Given the description of an element on the screen output the (x, y) to click on. 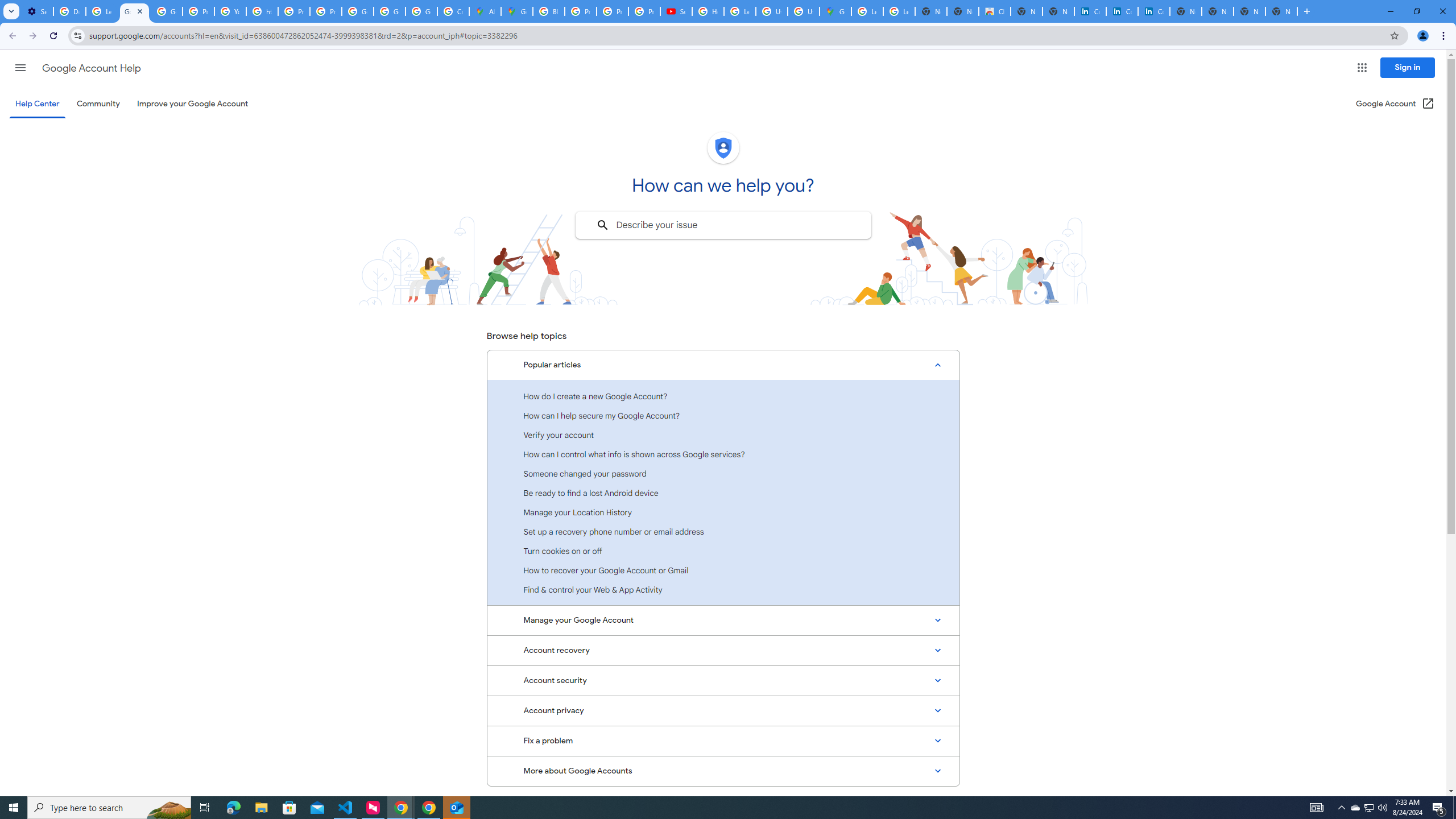
Copyright Policy (1153, 11)
New Tab (1281, 11)
Verify your account (722, 434)
